Given the description of an element on the screen output the (x, y) to click on. 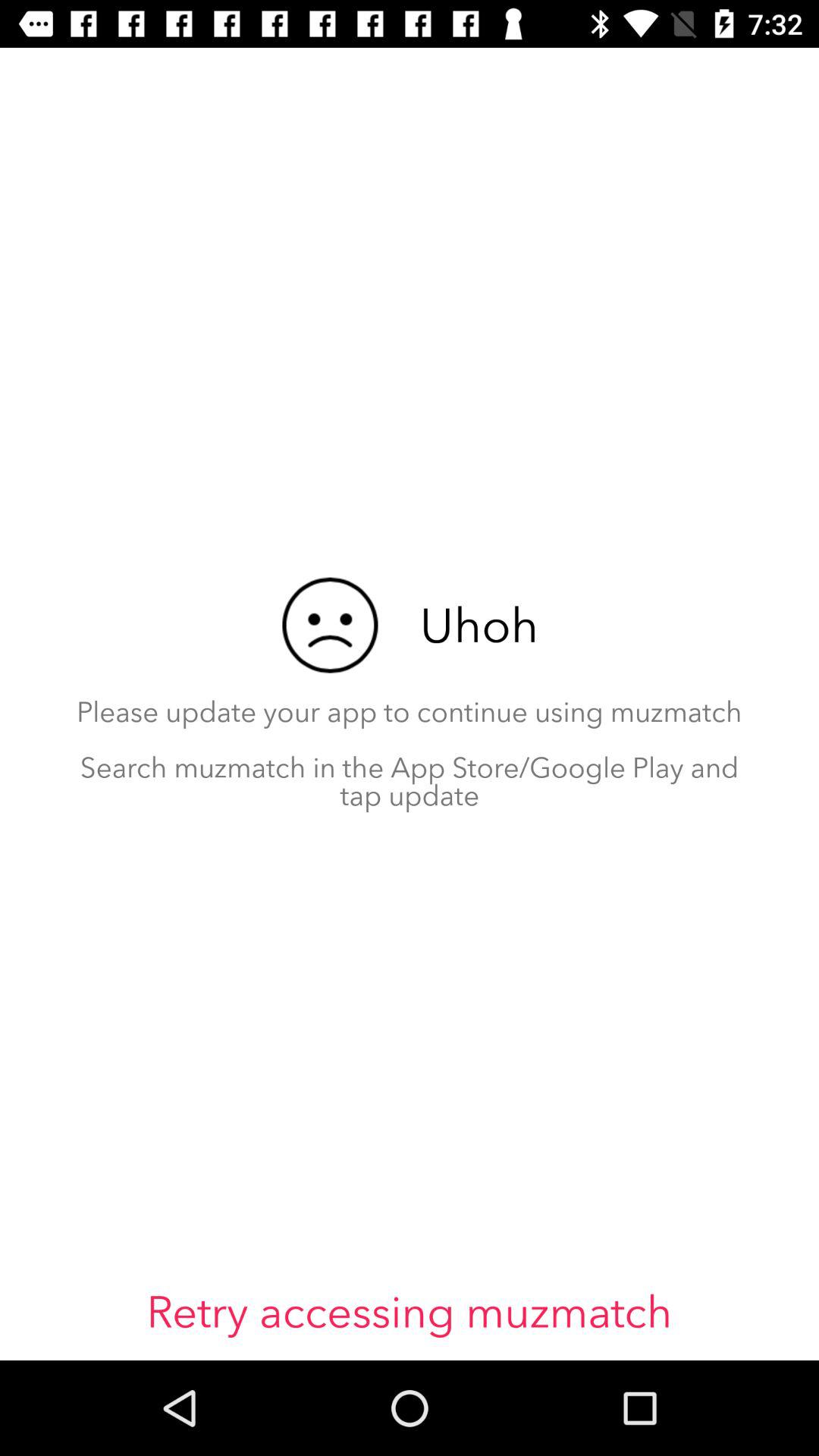
press icon below please update your item (409, 1312)
